Given the description of an element on the screen output the (x, y) to click on. 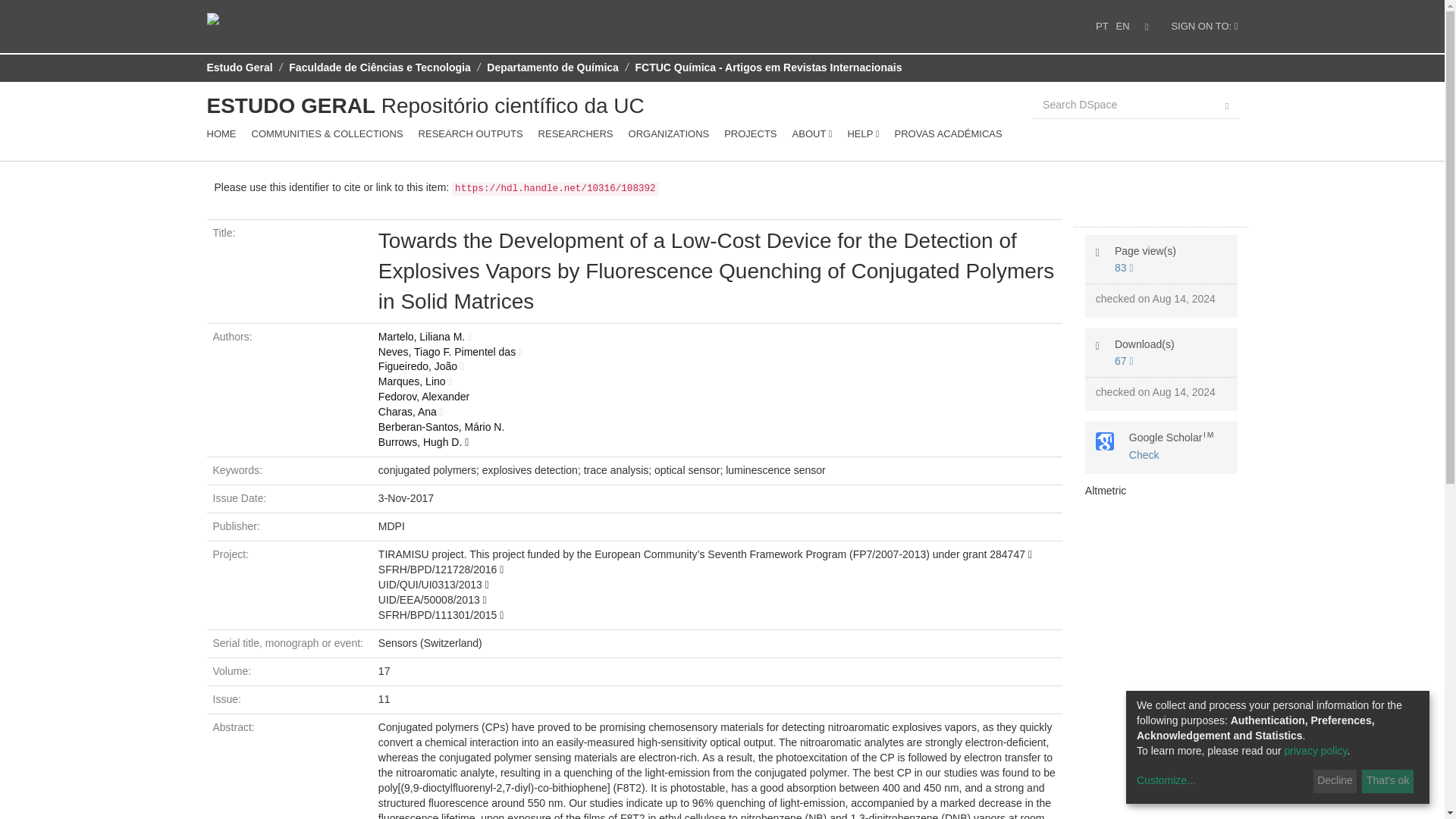
Estudo Geral (239, 67)
EN (1122, 26)
PT (1102, 26)
SIGN ON TO: (1203, 26)
